Given the description of an element on the screen output the (x, y) to click on. 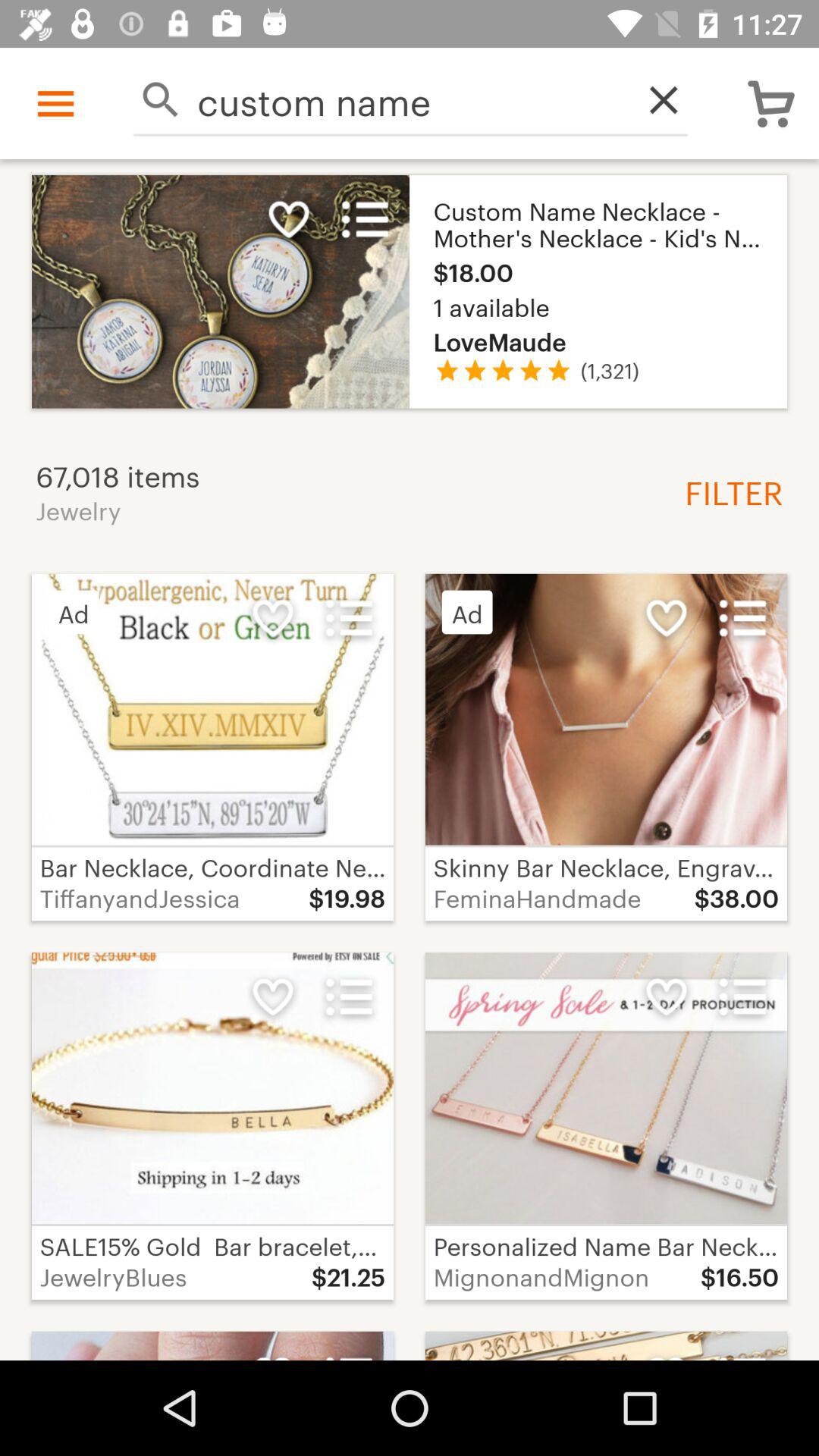
flip to filter item (727, 491)
